Given the description of an element on the screen output the (x, y) to click on. 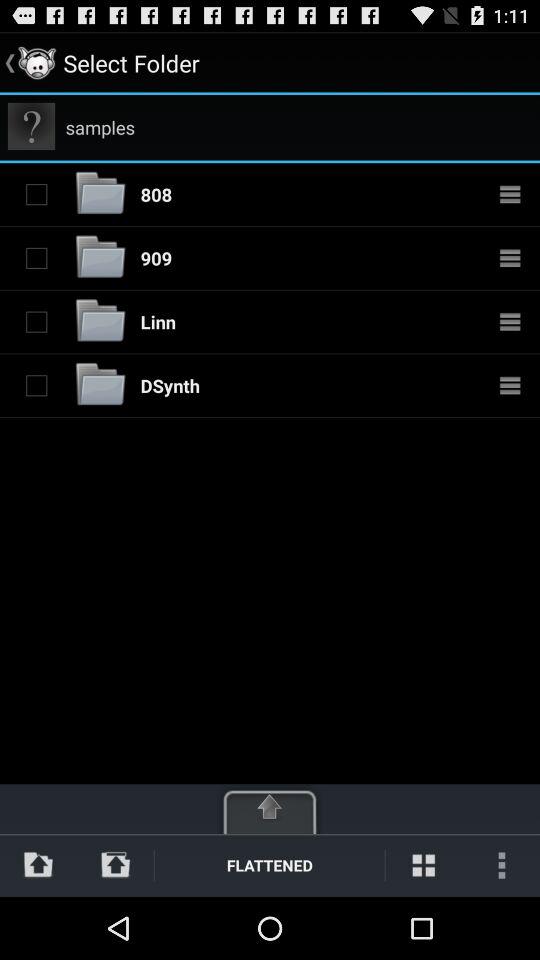
click the 909 app (156, 257)
